Given the description of an element on the screen output the (x, y) to click on. 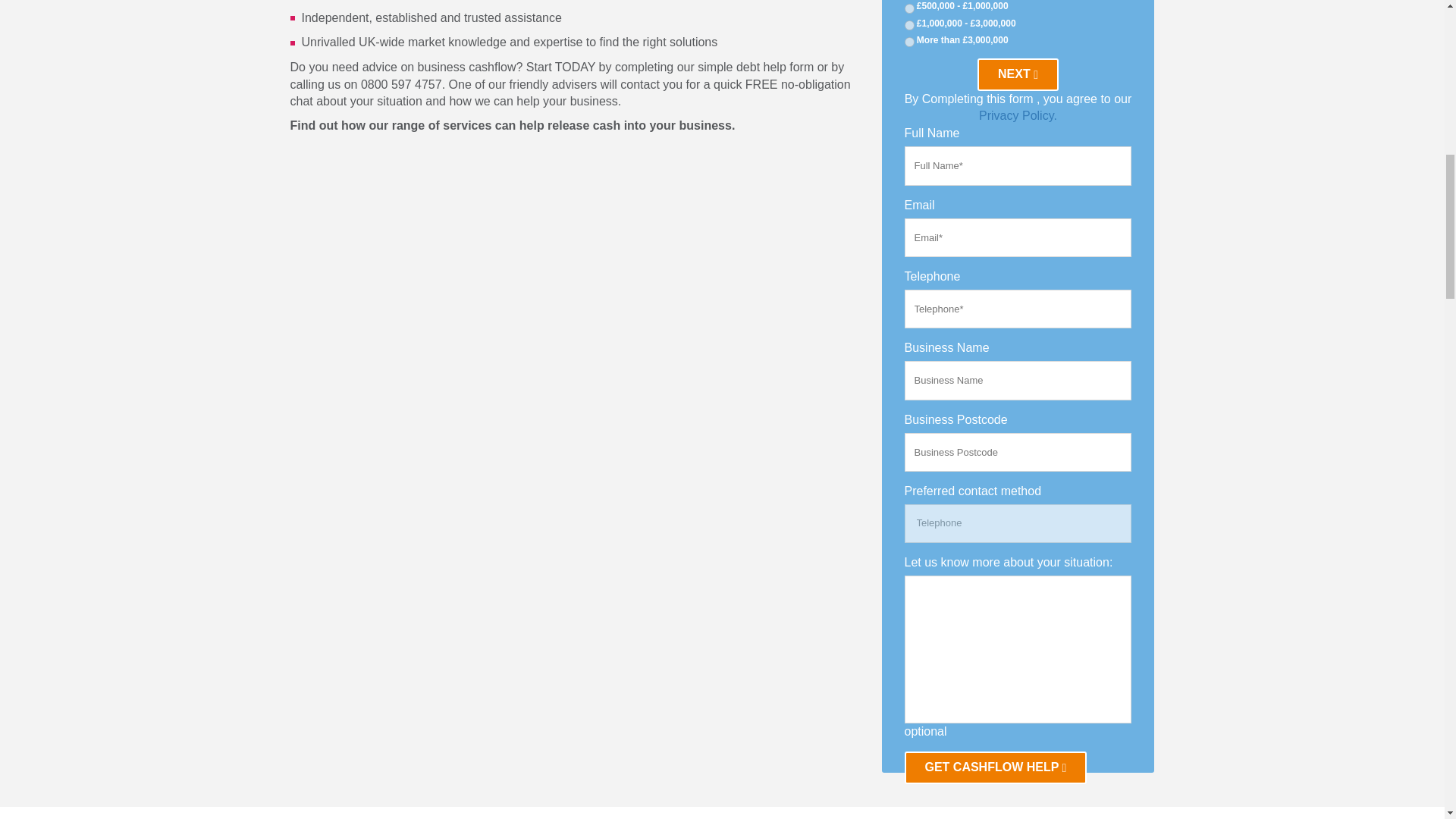
6 (909, 25)
5 (909, 8)
7 (909, 41)
